Given the description of an element on the screen output the (x, y) to click on. 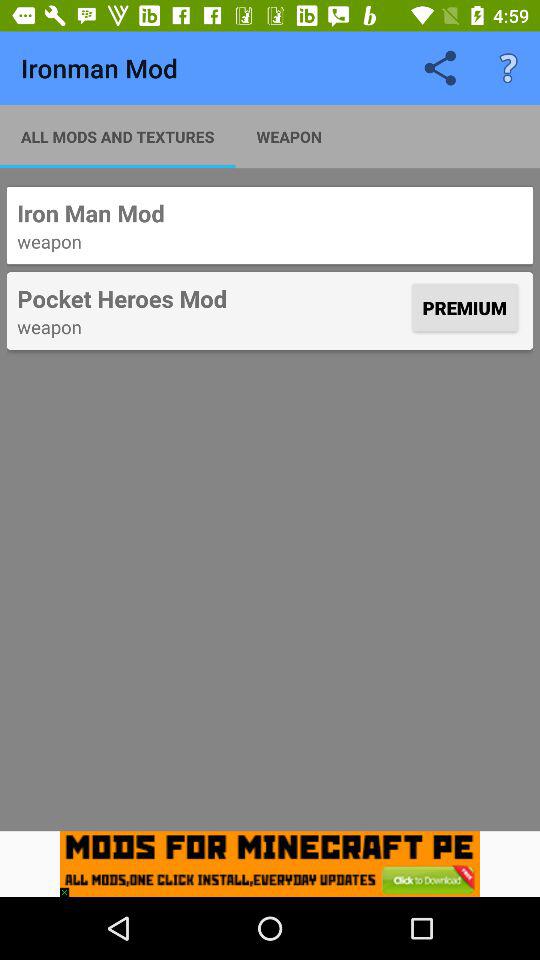
tap all mods and (117, 136)
